Given the description of an element on the screen output the (x, y) to click on. 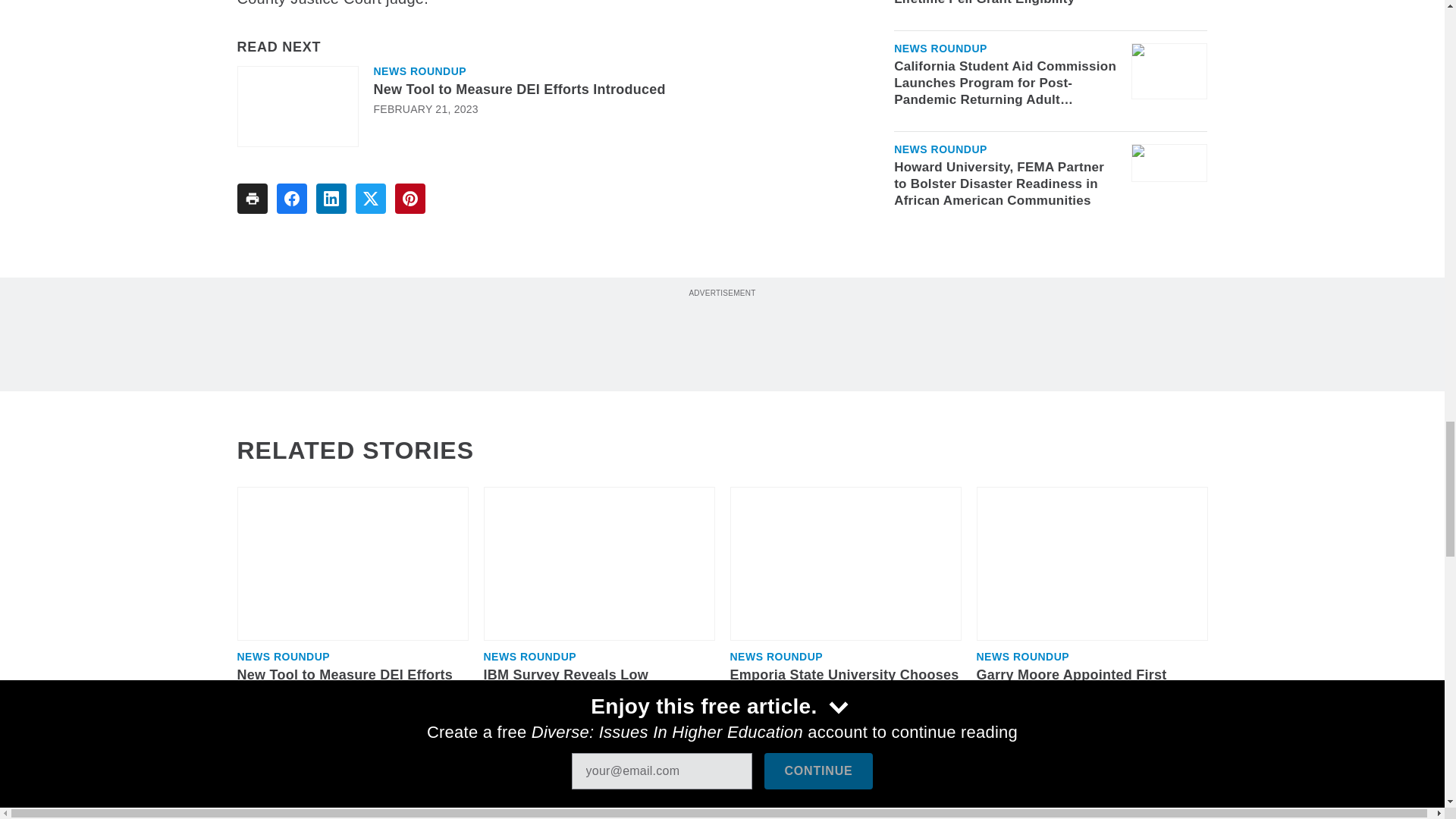
Share To print (250, 198)
News Roundup (418, 71)
Share To facebook (290, 198)
